Given the description of an element on the screen output the (x, y) to click on. 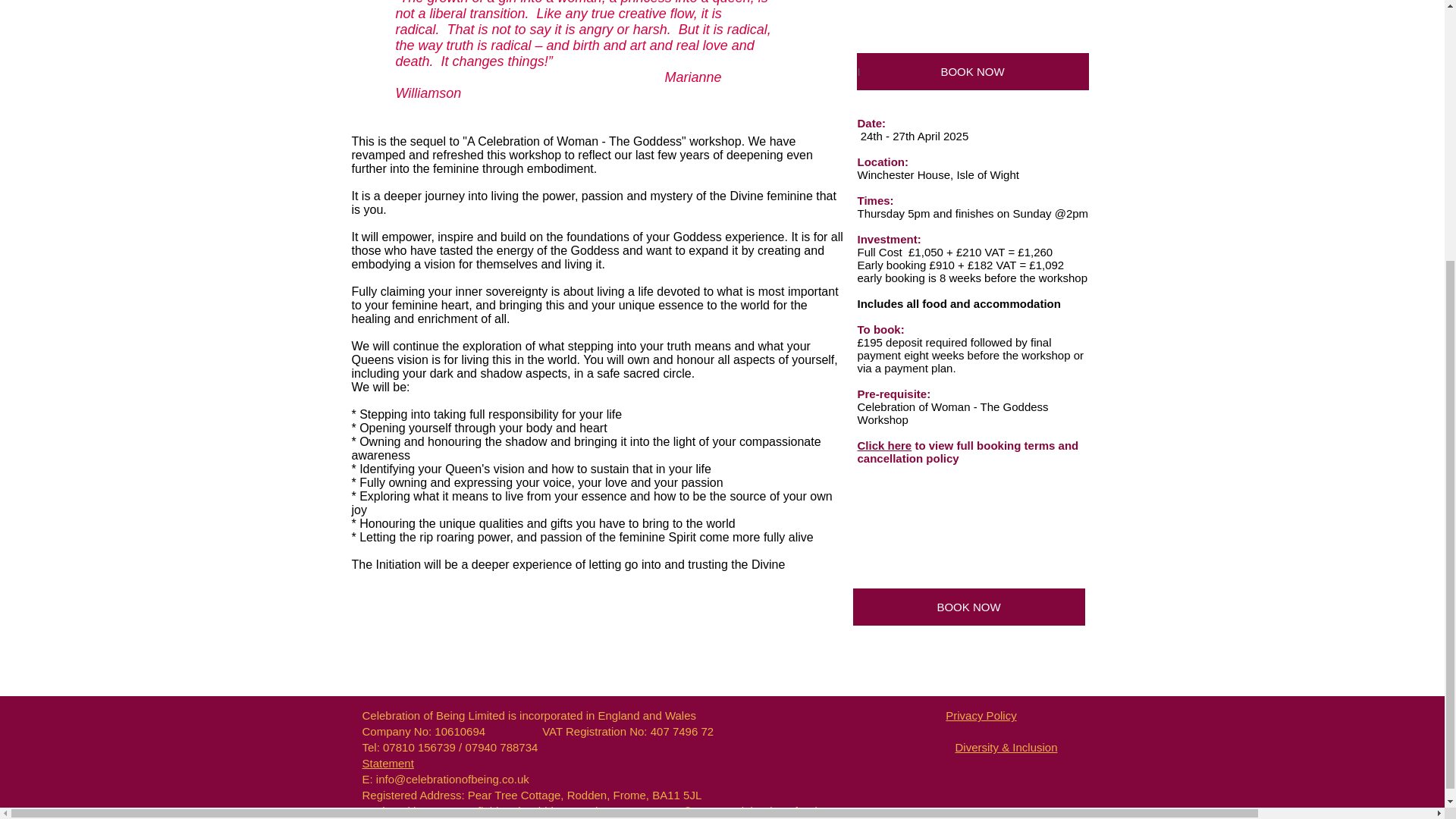
BOOK NOW (967, 606)
Tiara and roses.JPG 2015-4-23-13:35:41 (972, 20)
Click here (884, 445)
Privacy Policy (980, 715)
VAT Registration No: 407 7496 72 (627, 730)
BOOK NOW (973, 71)
